Given the description of an element on the screen output the (x, y) to click on. 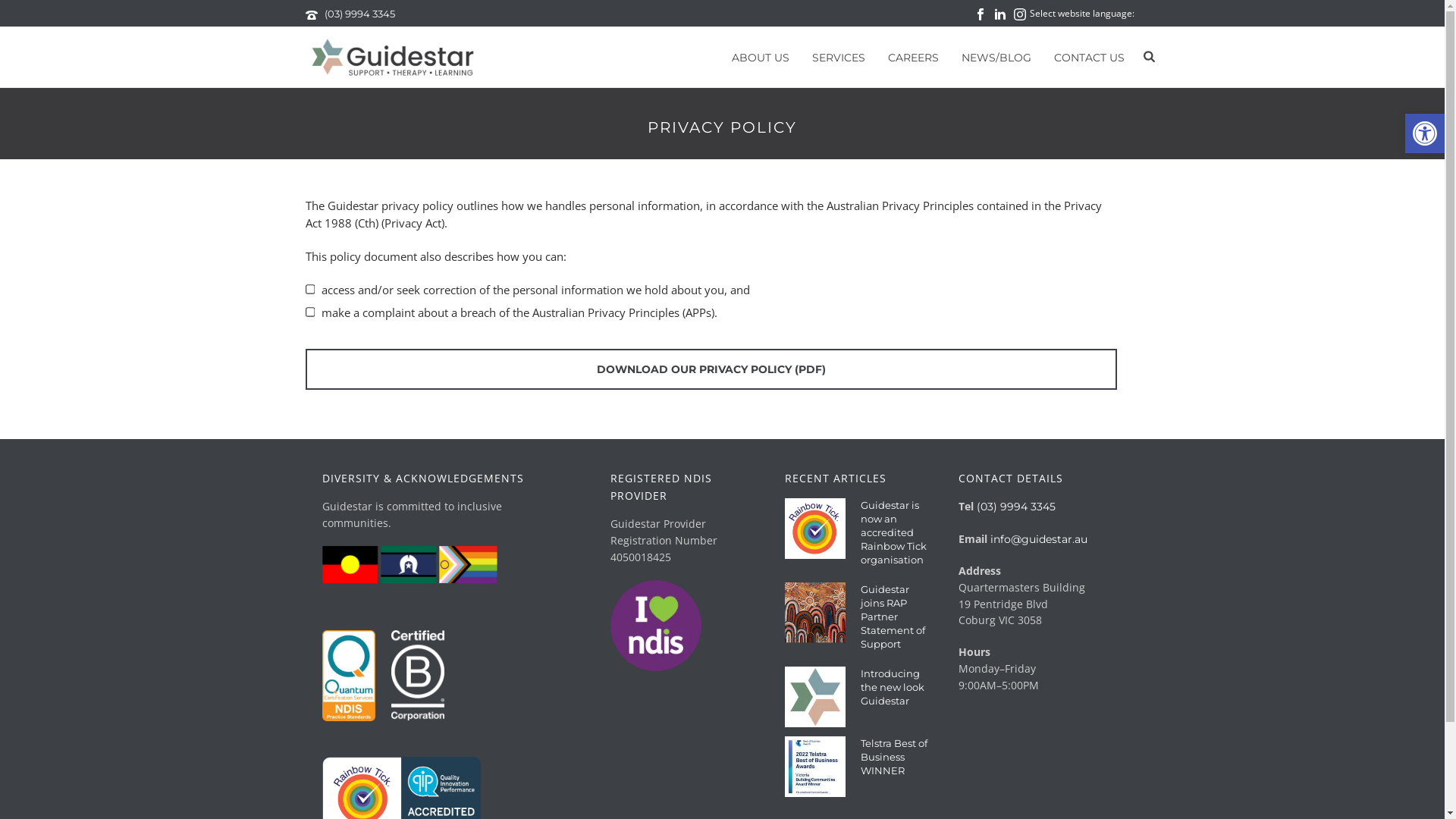
Guidestar is now an accredited Rainbow Tick organisation Element type: text (895, 532)
(03) 9994 3345 Element type: text (359, 13)
Guidestar joins RAP Partner Statement of Support Element type: text (895, 616)
Telstra Best of Business WINNER Element type: hover (814, 766)
SERVICES Element type: text (838, 57)
CAREERS Element type: text (913, 57)
Open toolbar
Accessibility Tools Element type: text (1424, 133)
DOWNLOAD OUR PRIVACY POLICY (PDF) Element type: text (710, 368)
Introducing the new look Guidestar Element type: hover (814, 696)
Telstra Best of Business WINNER Element type: text (895, 756)
(03) 9994 3345 Element type: text (1015, 506)
Guidestar joins RAP Partner Statement of Support Element type: hover (814, 612)
CONTACT US Element type: text (1088, 57)
info@guidestar.au Element type: text (1038, 539)
NEWS/BLOG Element type: text (996, 57)
Guidestar is now an accredited Rainbow Tick organisation Element type: hover (814, 528)
Introducing the new look Guidestar Element type: text (895, 686)
ABOUT US Element type: text (760, 57)
